Given the description of an element on the screen output the (x, y) to click on. 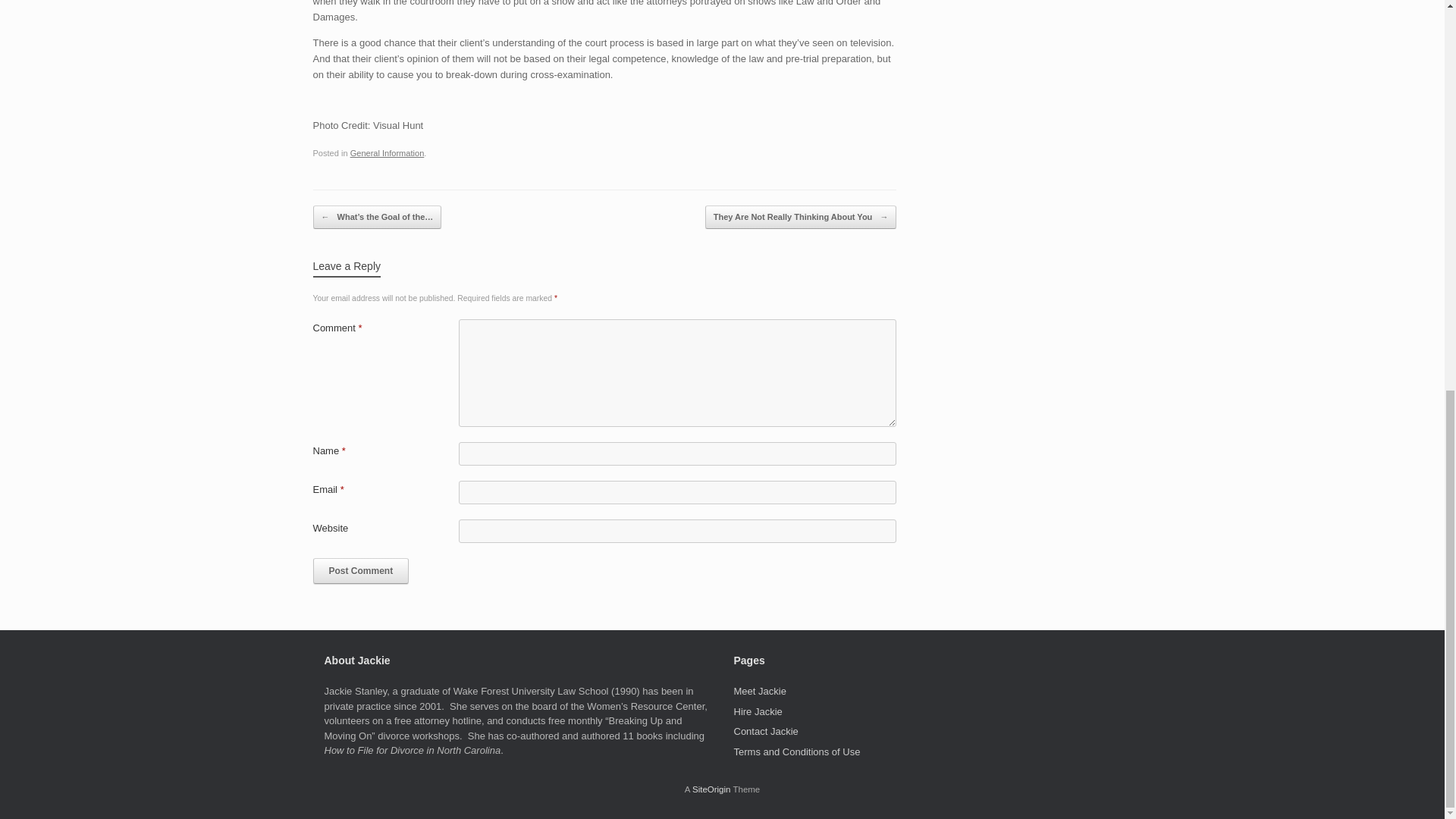
Meet Jackie (759, 690)
Post Comment (361, 570)
Post Comment (361, 570)
Hire Jackie (758, 711)
Contact Jackie (765, 731)
General Information (387, 153)
Terms and Conditions of Use (796, 751)
SiteOrigin (711, 788)
